Given the description of an element on the screen output the (x, y) to click on. 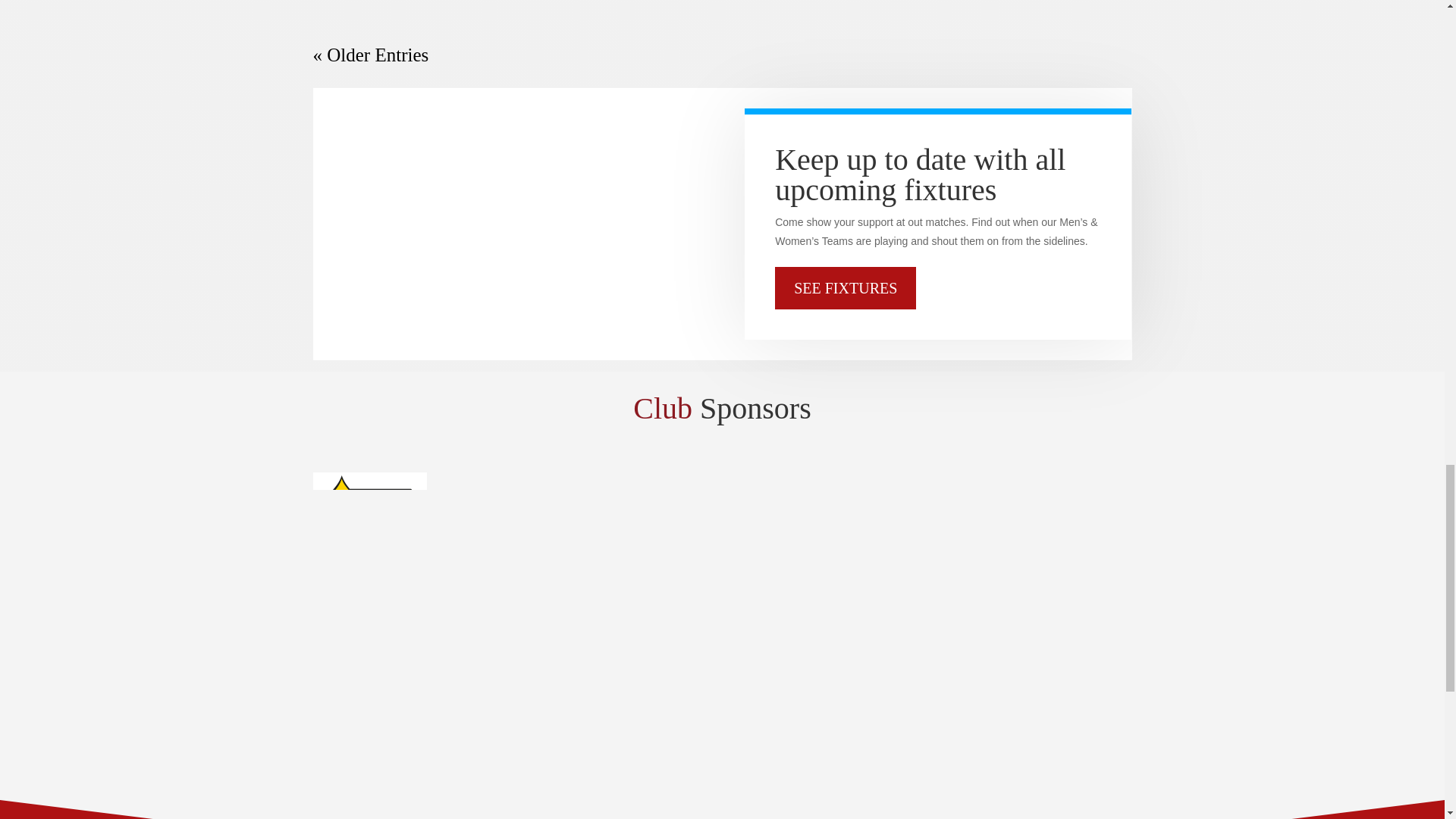
SEE FIXTURES (844, 287)
